Given the description of an element on the screen output the (x, y) to click on. 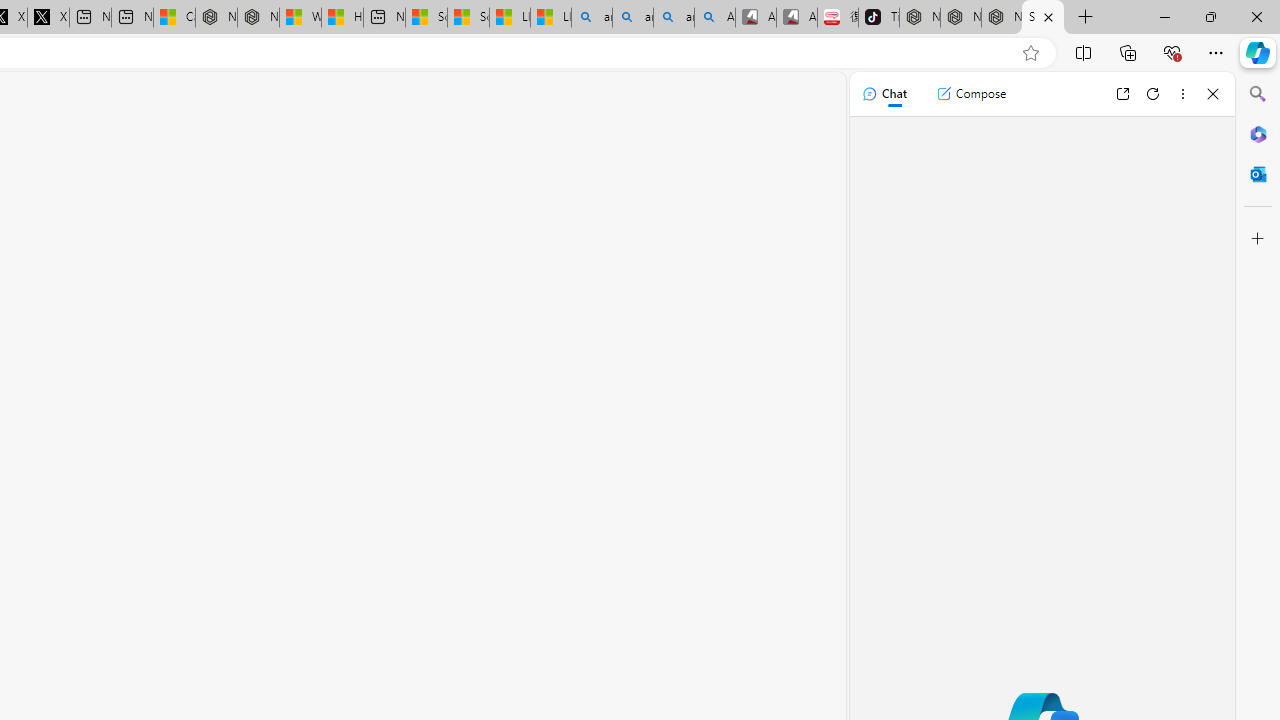
Compose (971, 93)
Settings (1042, 17)
Nordace - Siena Pro 15 Essential Set (1001, 17)
Nordace - Best Sellers (919, 17)
All Cubot phones (796, 17)
